Given the description of an element on the screen output the (x, y) to click on. 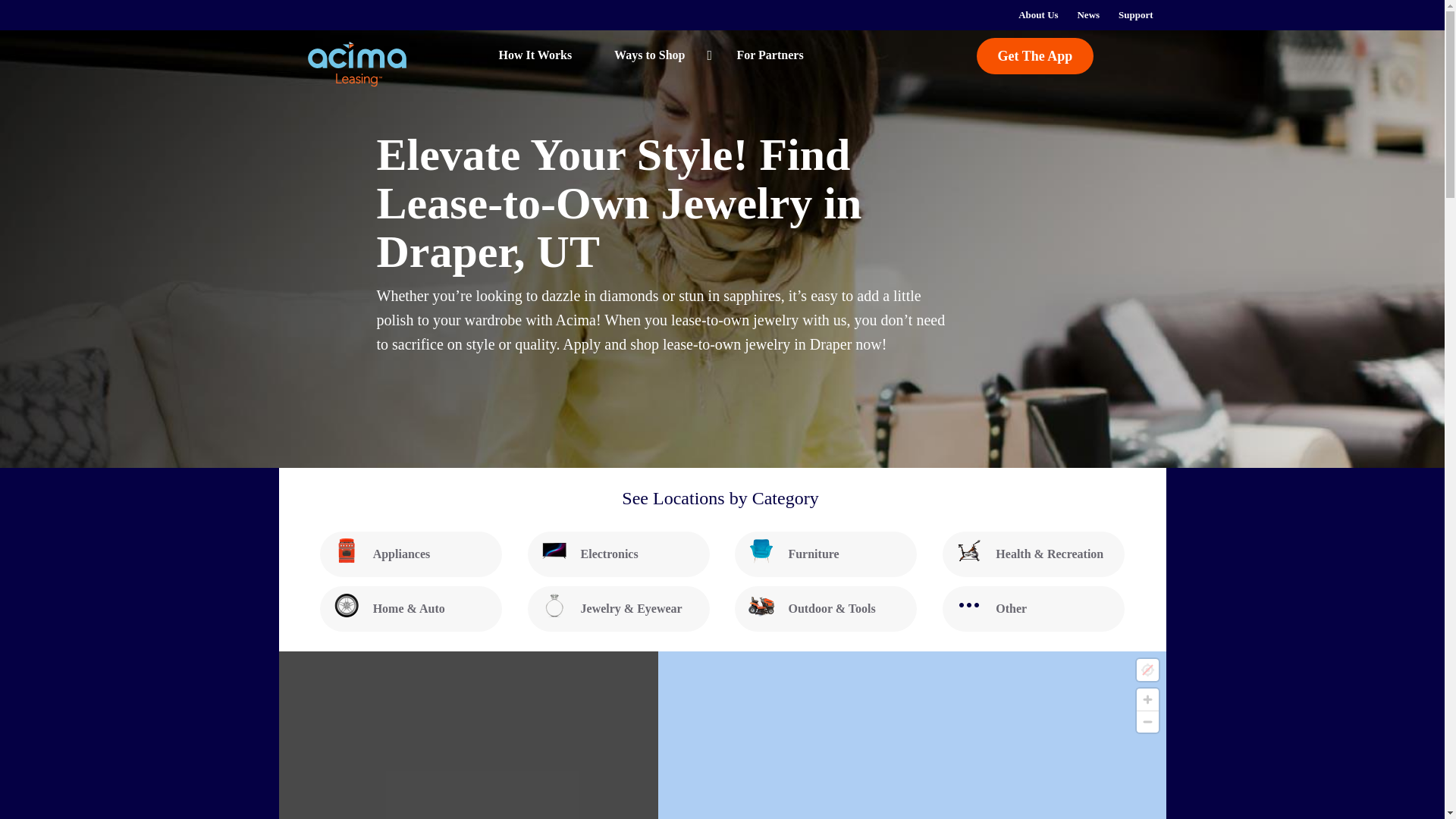
How It Works (516, 54)
Furniture (826, 554)
Zoom out (1146, 721)
Get The App (1035, 55)
Appliances (411, 554)
Zoom in (1146, 699)
Support (1136, 15)
Ways to Shop (653, 54)
Find my location (1146, 669)
Acima (358, 63)
For Partners (769, 54)
About Us (1037, 15)
Electronics (618, 554)
